Given the description of an element on the screen output the (x, y) to click on. 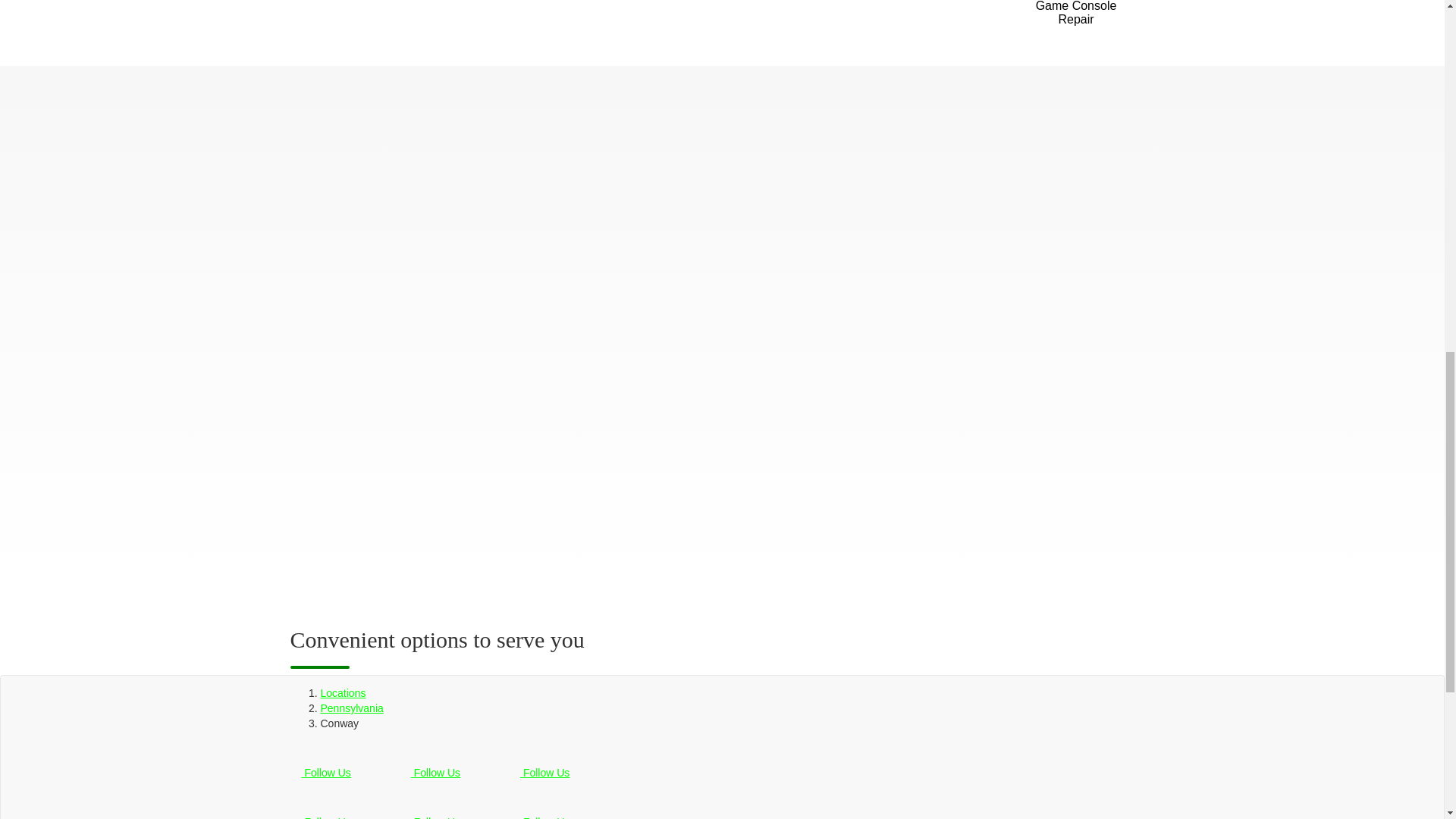
Tablet Repair (780, 18)
Computer Repair (921, 18)
Google Repair (638, 18)
Game Console Repair (1076, 18)
Samsung Repair (496, 18)
iPhone Repair (354, 18)
